Given the description of an element on the screen output the (x, y) to click on. 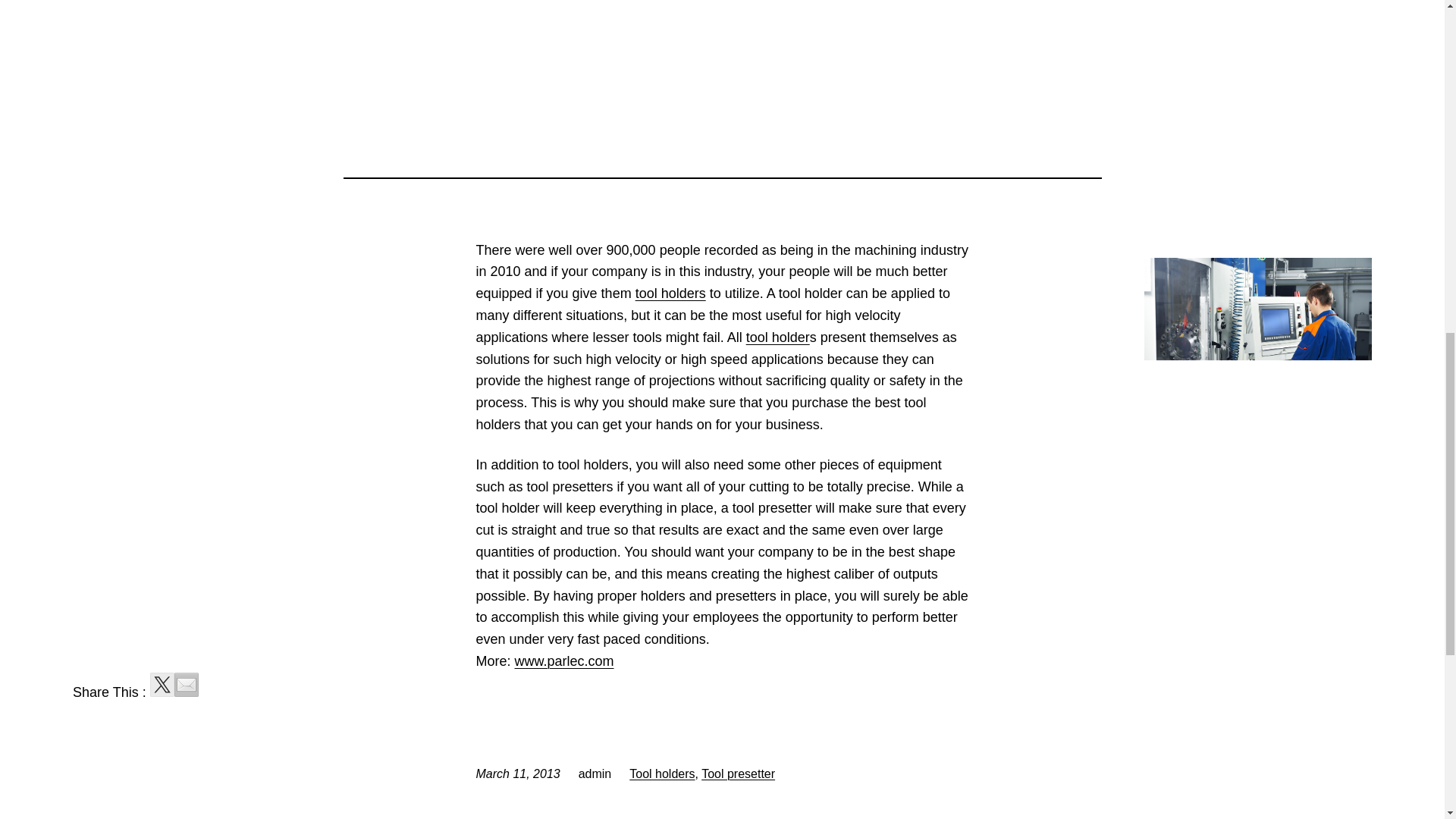
tool holder (777, 337)
Tool holders (661, 773)
Share on Twitter (161, 684)
Here you go (777, 337)
For the real scoop on Tool holders (670, 293)
Tool presetters (564, 661)
tool holders (670, 293)
Tool presetter (737, 773)
www.parlec.com (564, 661)
Share by email (186, 684)
